Given the description of an element on the screen output the (x, y) to click on. 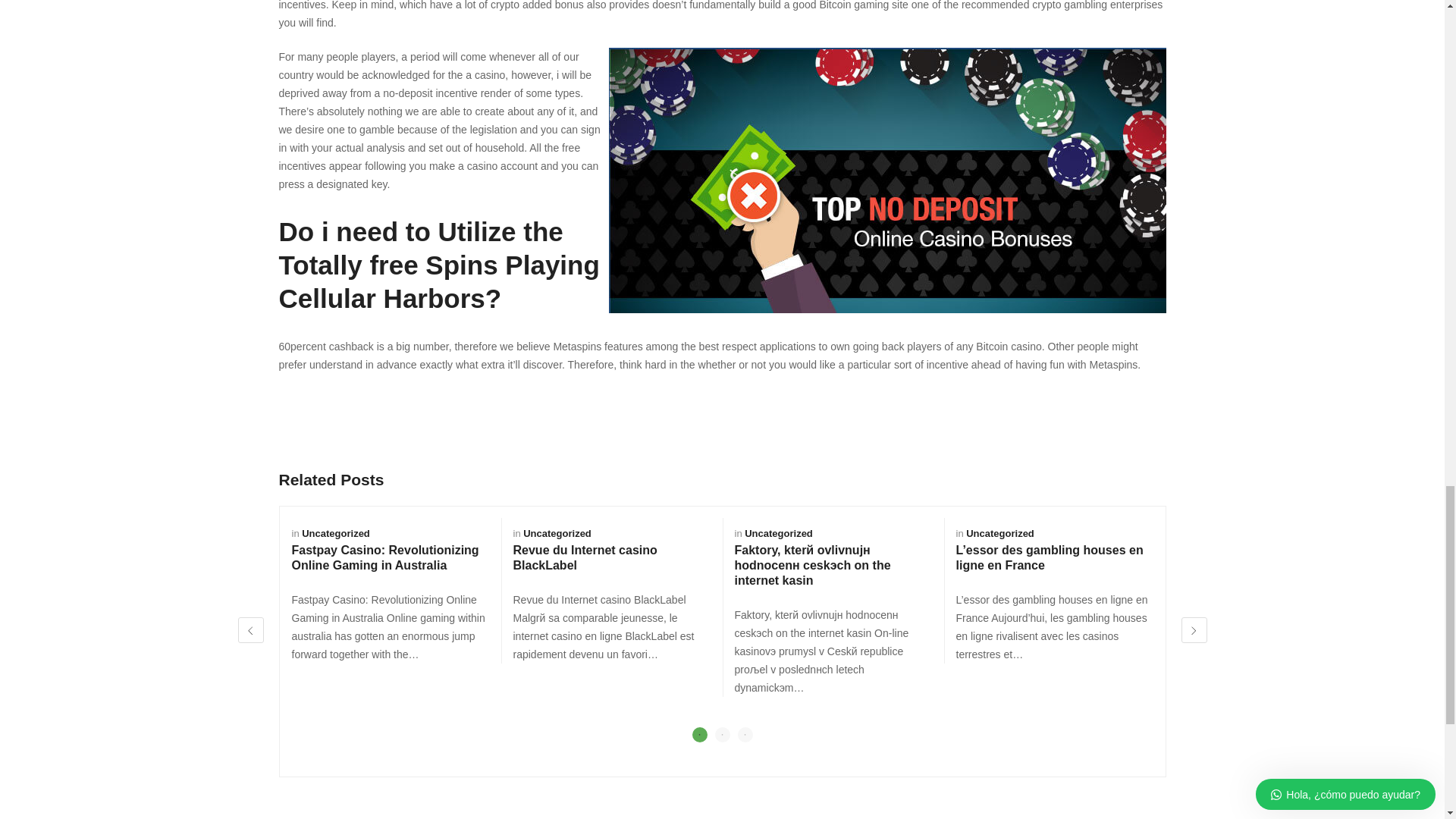
Fastpay Casino: Revolutionizing Online Gaming in Australia (385, 557)
Revue du Internet casino BlackLabel (584, 557)
Uncategorized (556, 532)
Uncategorized (335, 532)
Uncategorized (778, 532)
Uncategorized (999, 532)
